Given the description of an element on the screen output the (x, y) to click on. 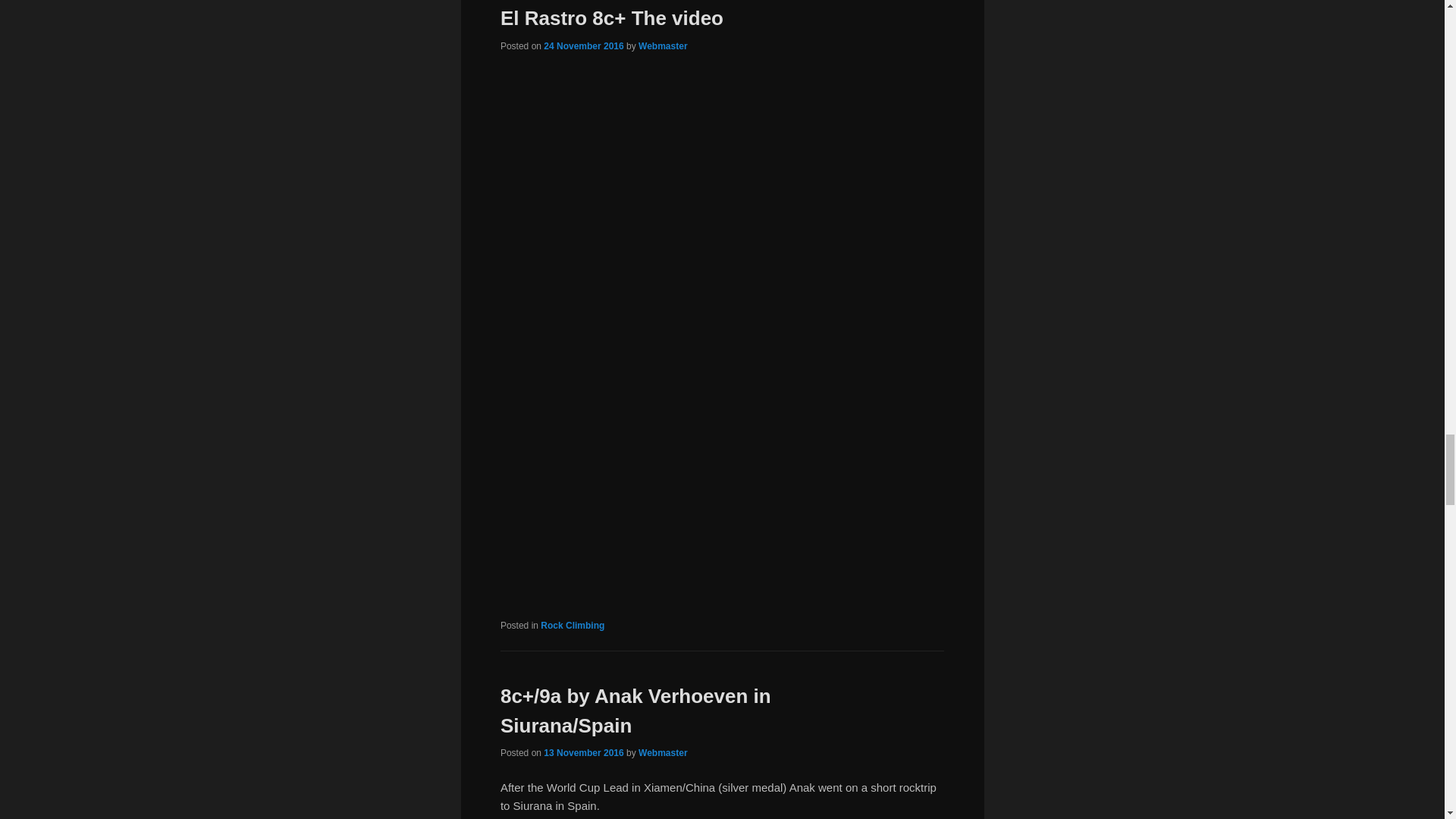
View all posts by Webmaster (663, 752)
12:22 (583, 752)
View all posts by Webmaster (663, 45)
08:54 (583, 45)
